Given the description of an element on the screen output the (x, y) to click on. 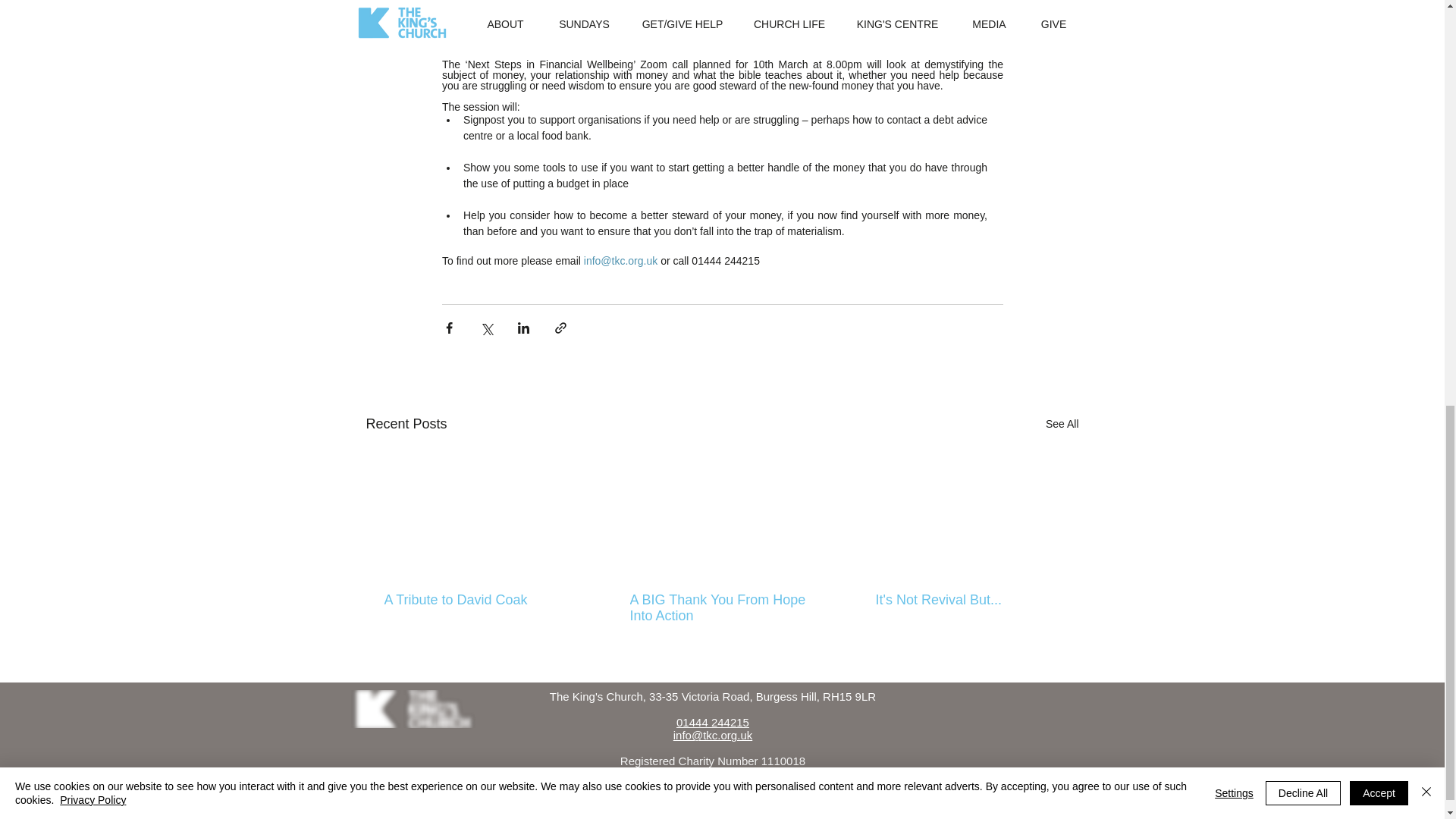
The King's Church (413, 709)
